Given the description of an element on the screen output the (x, y) to click on. 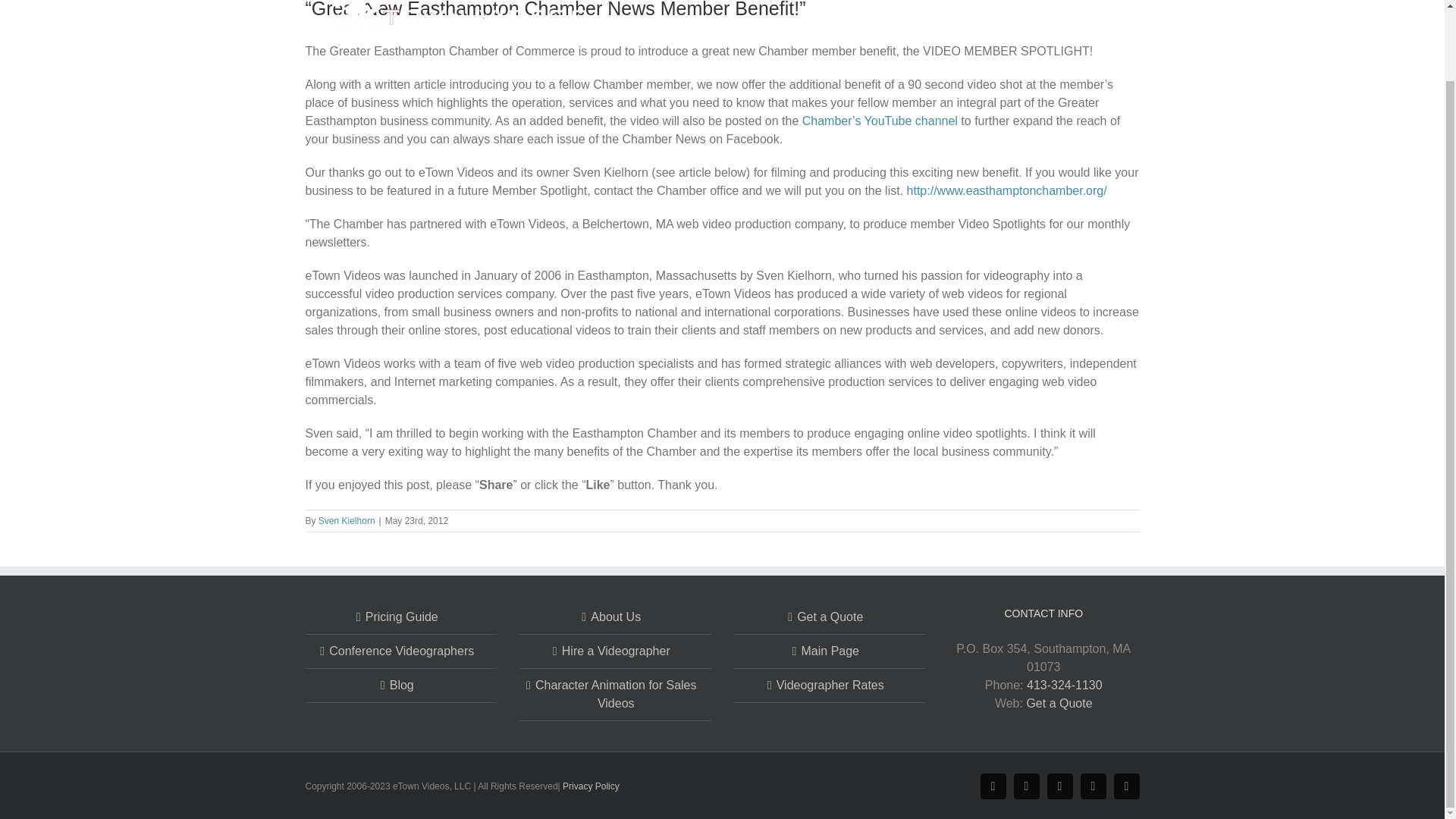
Search (1135, 9)
Home (944, 9)
Pricing Guide (401, 617)
Services (1002, 9)
Get a Quote (1078, 9)
Sven Kielhorn (346, 520)
Conference Videographers (401, 651)
Posts by Sven Kielhorn (346, 520)
